Given the description of an element on the screen output the (x, y) to click on. 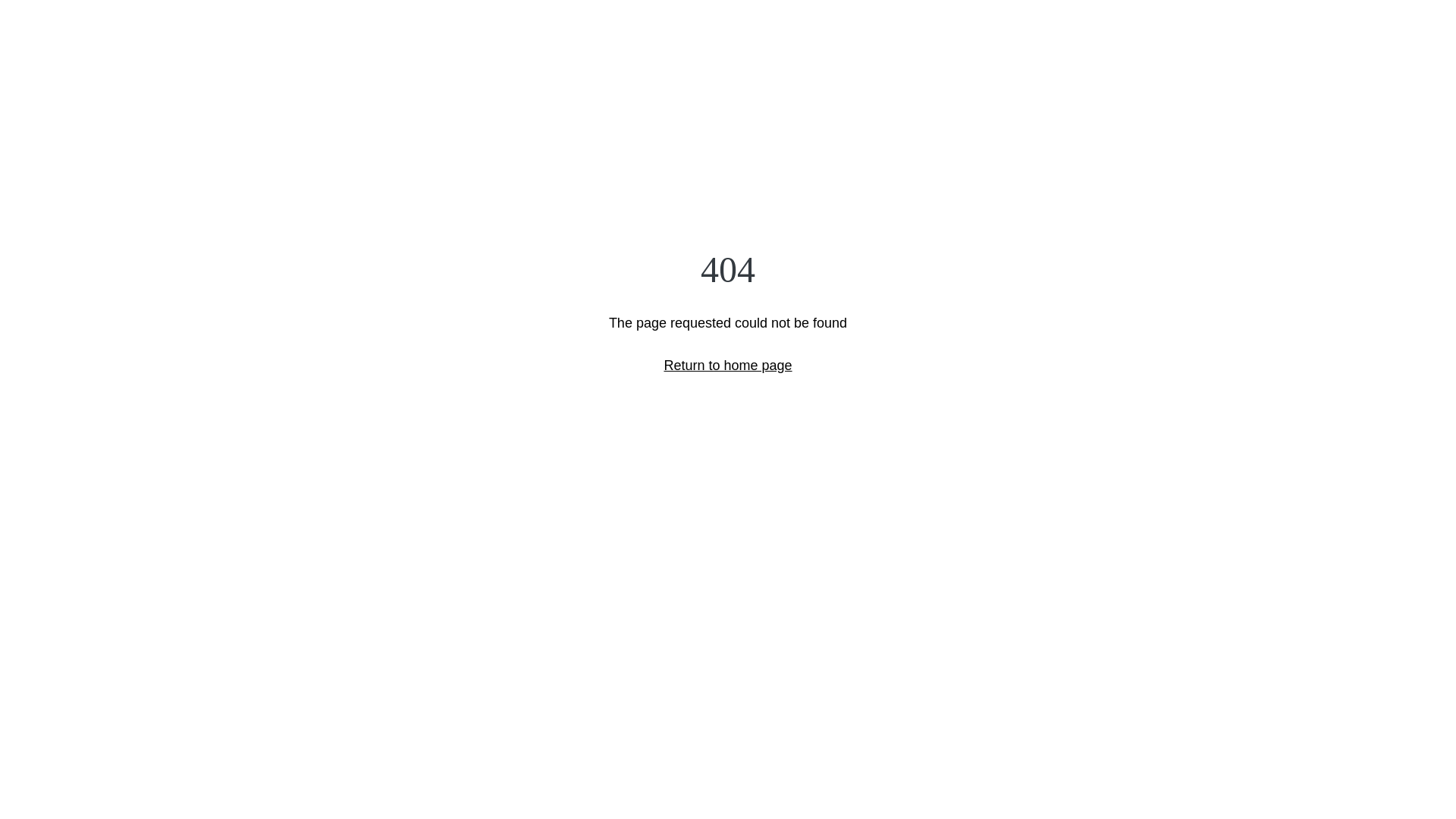
Return to home page Element type: text (727, 365)
